Given the description of an element on the screen output the (x, y) to click on. 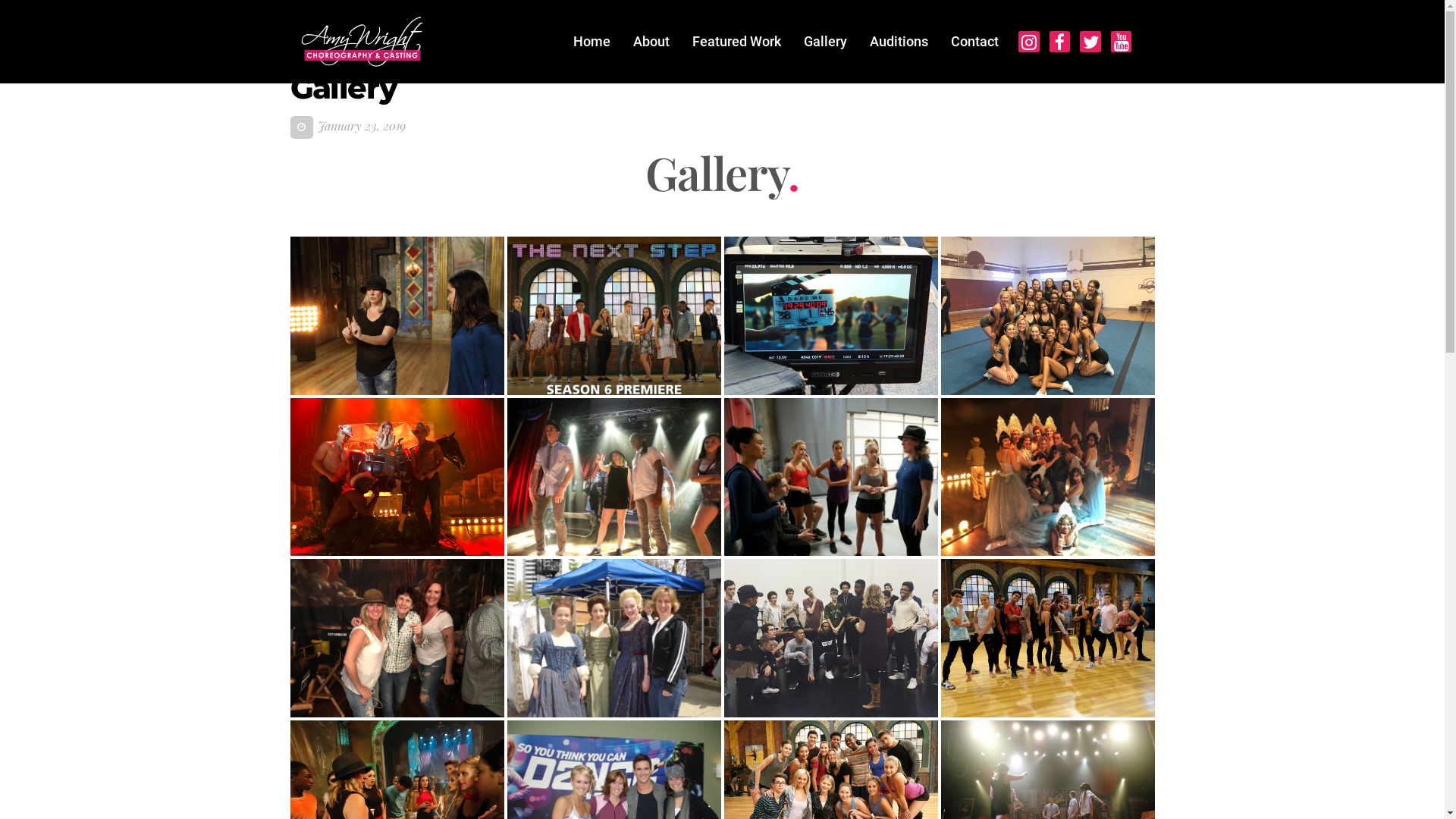
Auditions Element type: text (898, 41)
Gallery Element type: text (825, 41)
Contact Element type: text (974, 41)
Featured Work Element type: text (736, 41)
Home Element type: text (591, 41)
About Element type: text (650, 41)
